Given the description of an element on the screen output the (x, y) to click on. 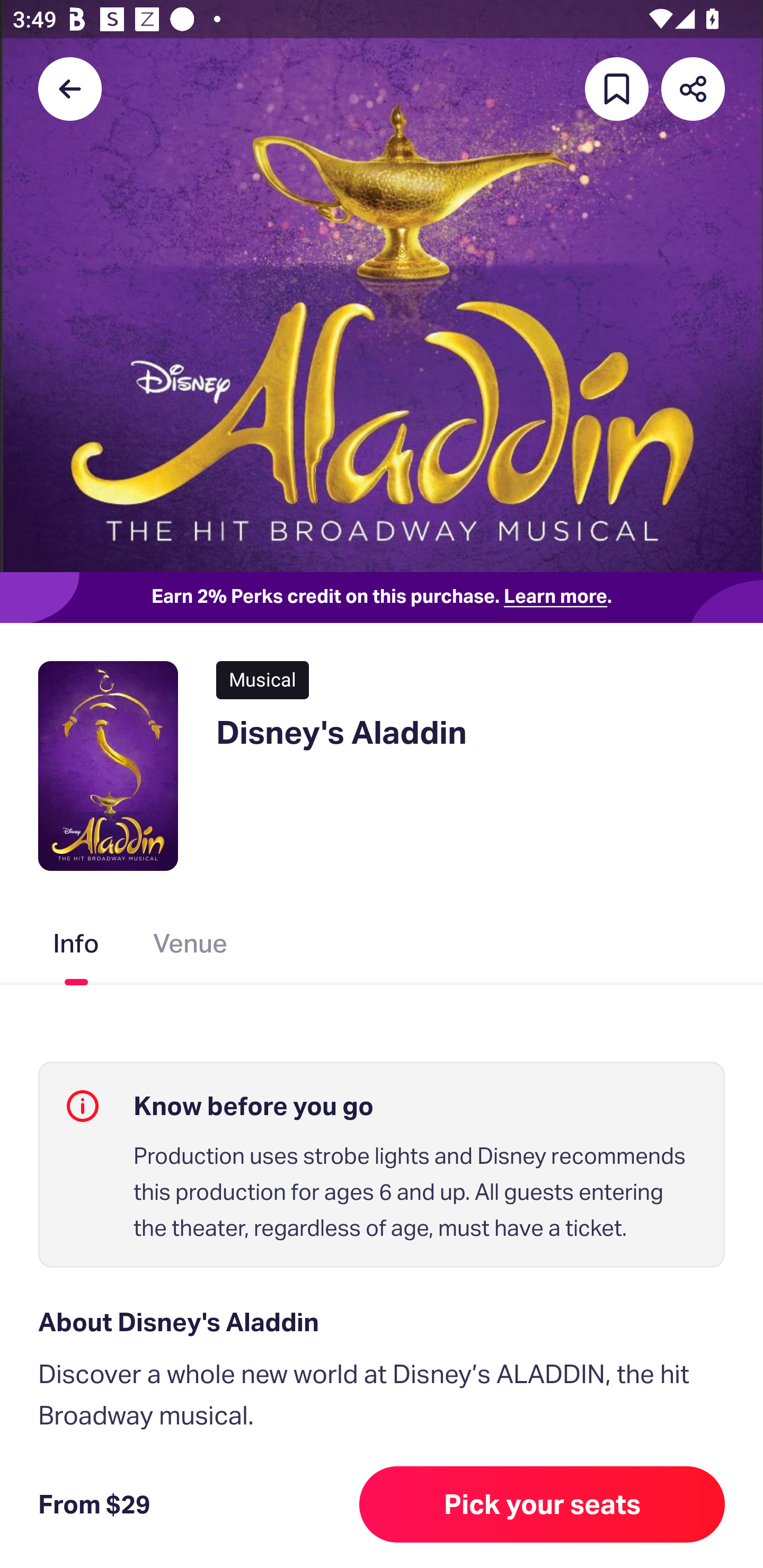
Earn 2% Perks credit on this purchase. Learn more. (381, 597)
Venue (190, 946)
About Disney's Aladdin (381, 1322)
Pick your seats (541, 1504)
